Given the description of an element on the screen output the (x, y) to click on. 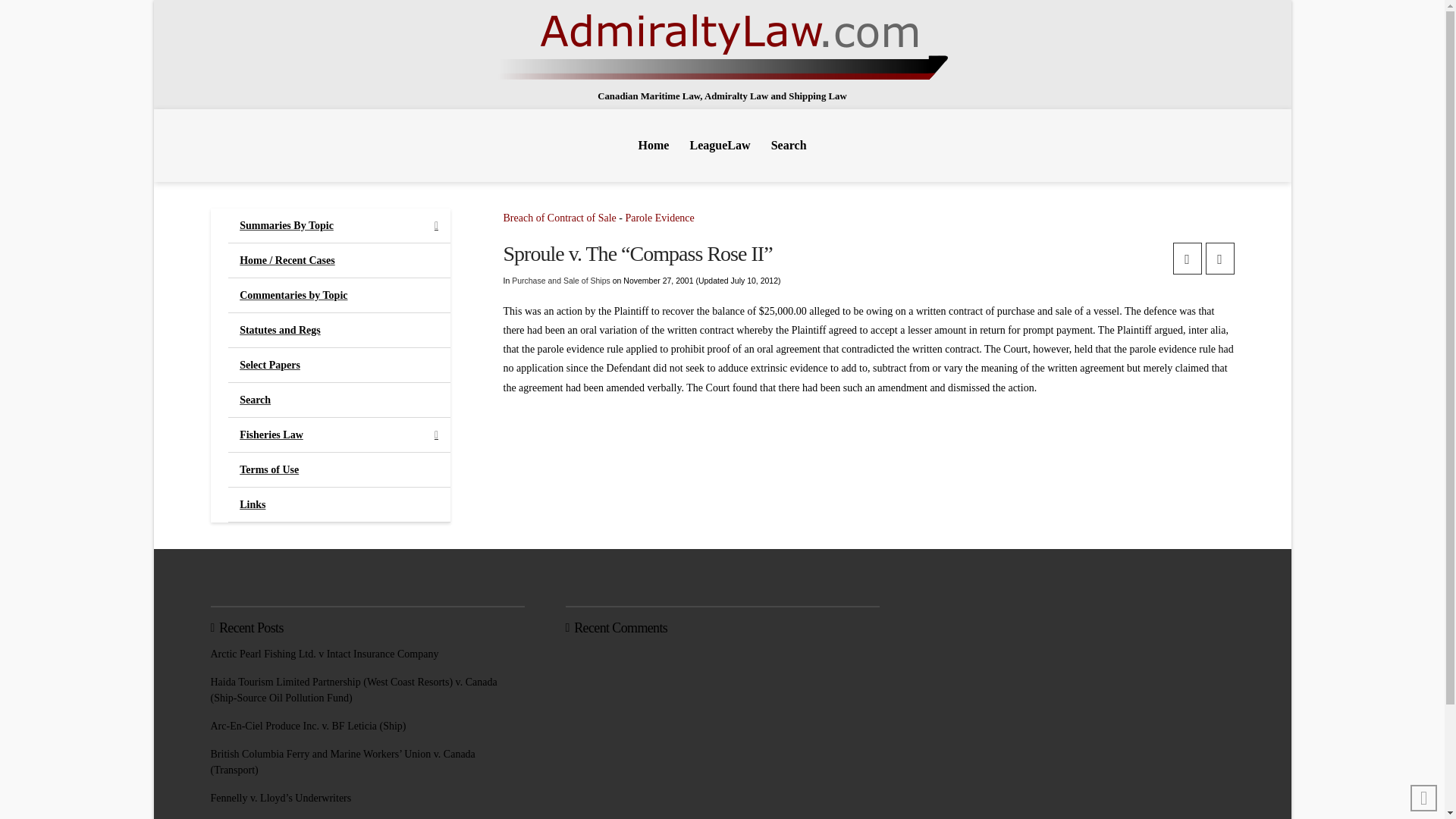
Parole Evidence (659, 217)
Purchase and Sale of Ships (561, 280)
LeagueLaw (719, 144)
Back to Top (1423, 797)
Summaries By Topic (338, 225)
Breach of Contract of Sale (559, 217)
